Given the description of an element on the screen output the (x, y) to click on. 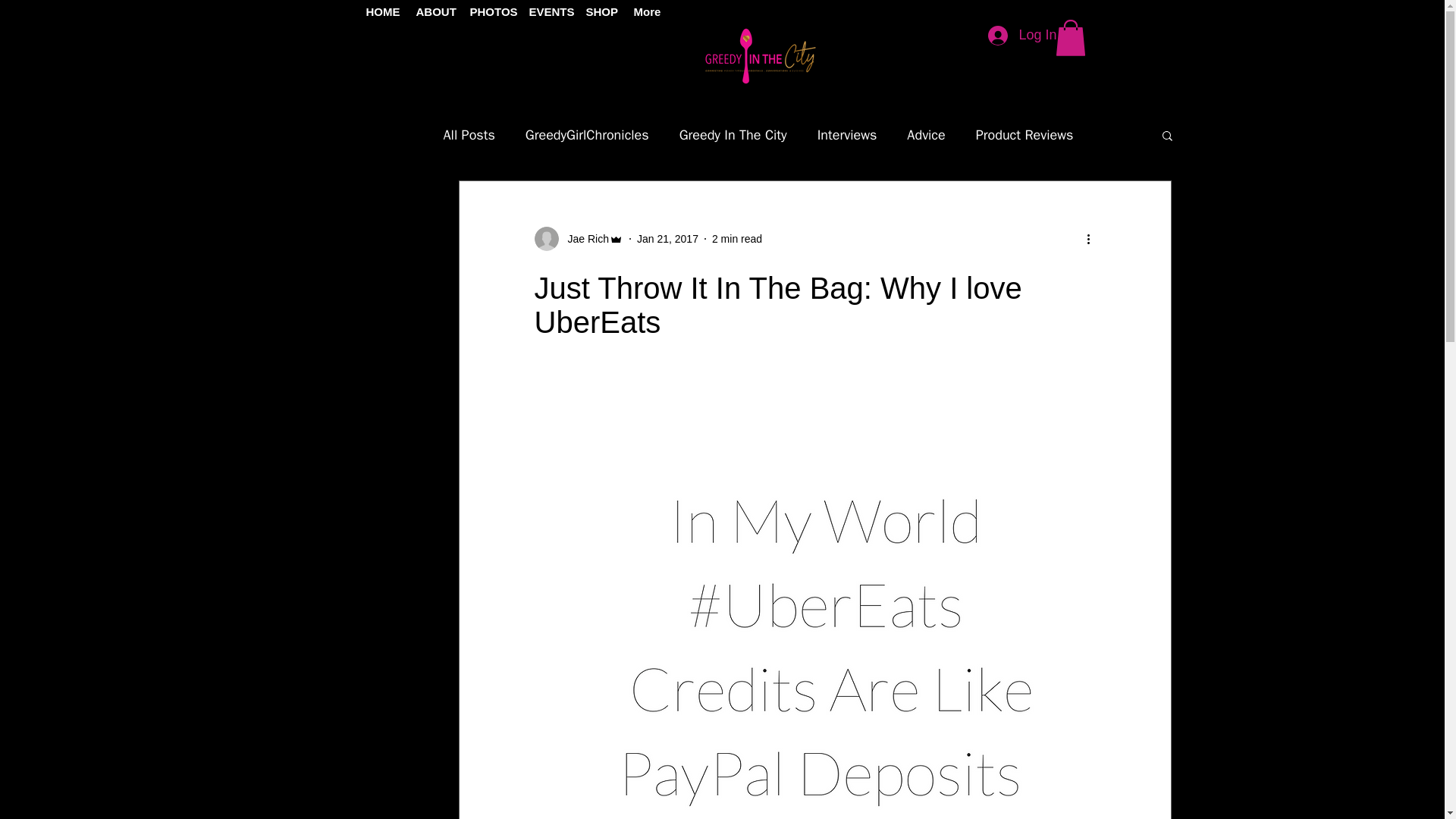
Jae Rich (578, 238)
GreedyGirlChronicles (587, 135)
Interviews (846, 135)
Jan 21, 2017 (667, 237)
Log In (1021, 35)
2 min read (736, 237)
PHOTOS (487, 12)
All Posts (468, 135)
EVENTS (544, 12)
Advice (925, 135)
Greedy In The City (733, 135)
HOME (379, 12)
Jae Rich (582, 238)
ABOUT (431, 12)
SHOP (599, 12)
